Given the description of an element on the screen output the (x, y) to click on. 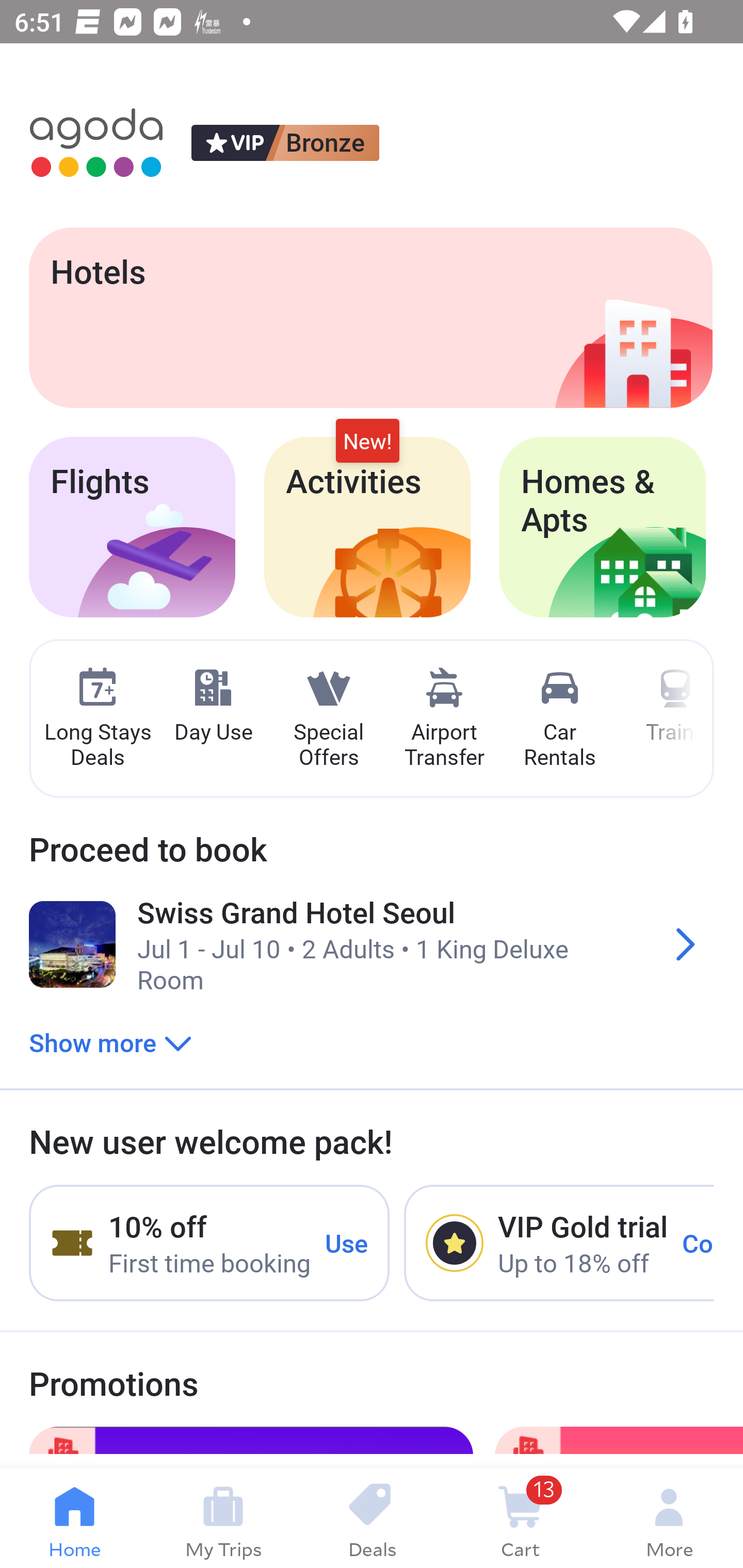
Hotels (370, 317)
New! (367, 441)
Flights (131, 527)
Activities (367, 527)
Homes & Apts (602, 527)
Day Use (213, 706)
Long Stays Deals (97, 718)
Special Offers (328, 718)
Airport Transfer (444, 718)
Car Rentals (559, 718)
Show more (110, 1041)
Use (346, 1242)
Home (74, 1518)
My Trips (222, 1518)
Deals (371, 1518)
13 Cart (519, 1518)
More (668, 1518)
